Given the description of an element on the screen output the (x, y) to click on. 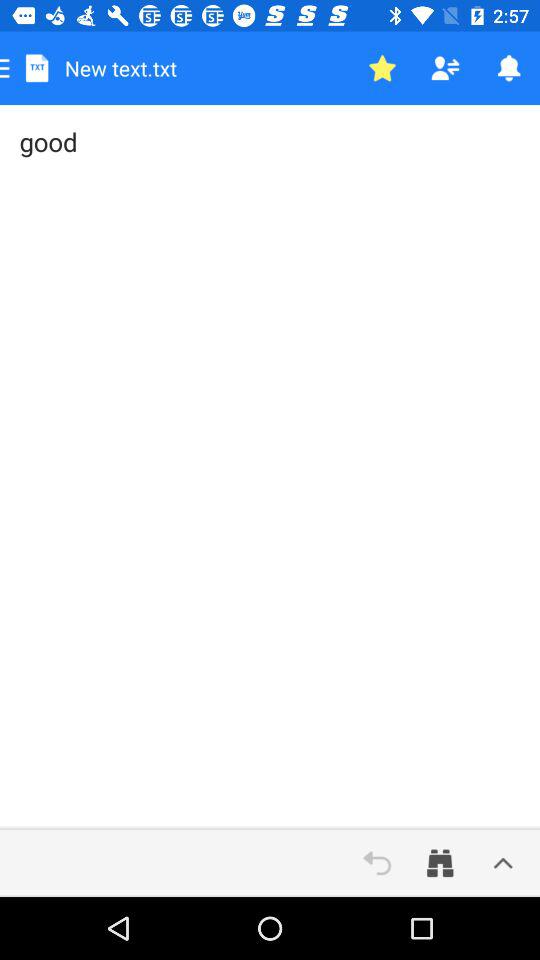
open the item to the right of the new text.txt item (381, 68)
